Given the description of an element on the screen output the (x, y) to click on. 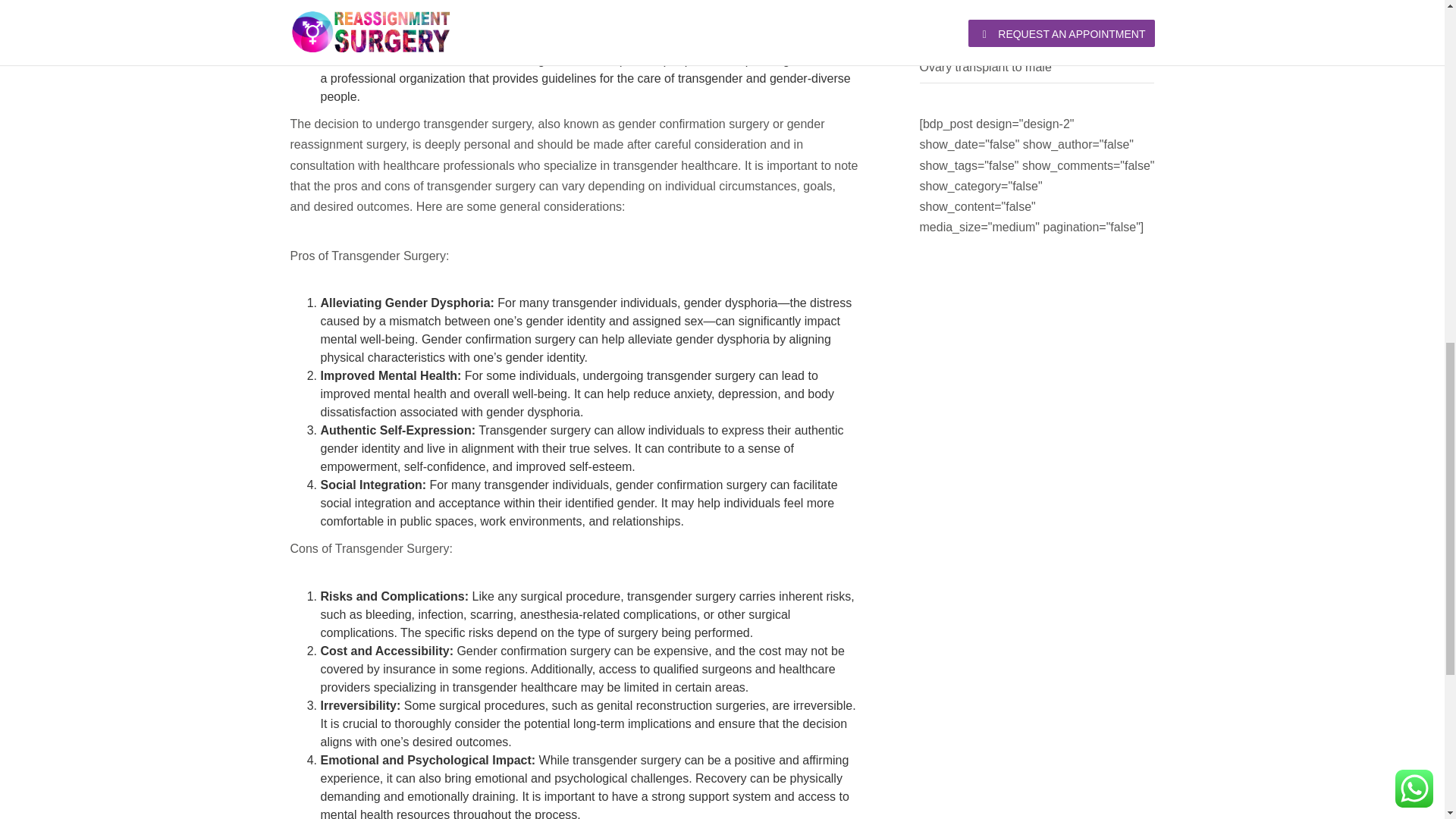
Gender transition surgery male to female (1028, 5)
Transgender process from female to male (1030, 35)
Ovary transplant to male (984, 66)
